Given the description of an element on the screen output the (x, y) to click on. 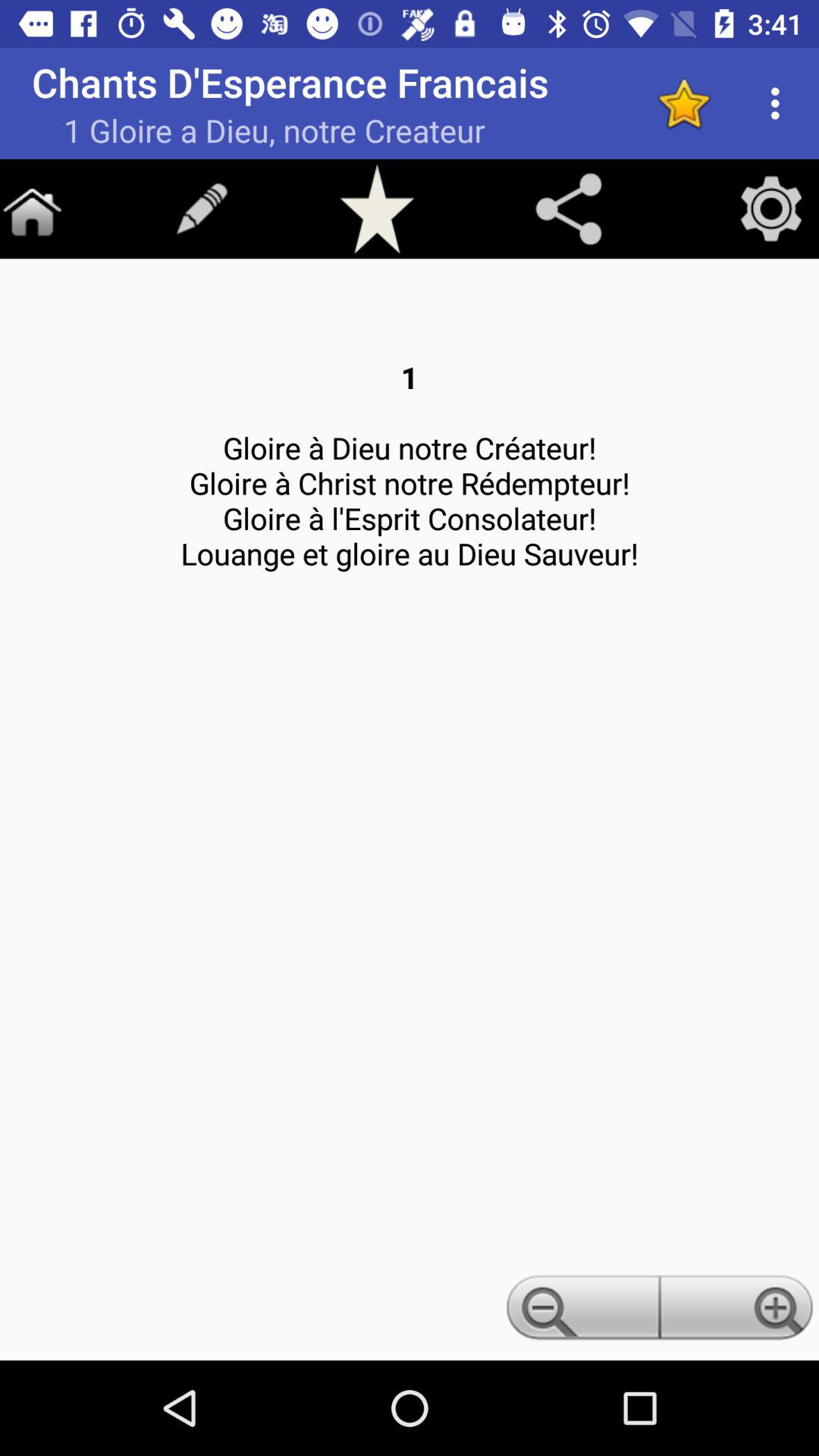
click on star icon (683, 103)
click on the star button icon (377, 208)
click on the icon next to home (201, 208)
choose the settings button next to the share button (771, 208)
click on the share icon (568, 208)
